Given the description of an element on the screen output the (x, y) to click on. 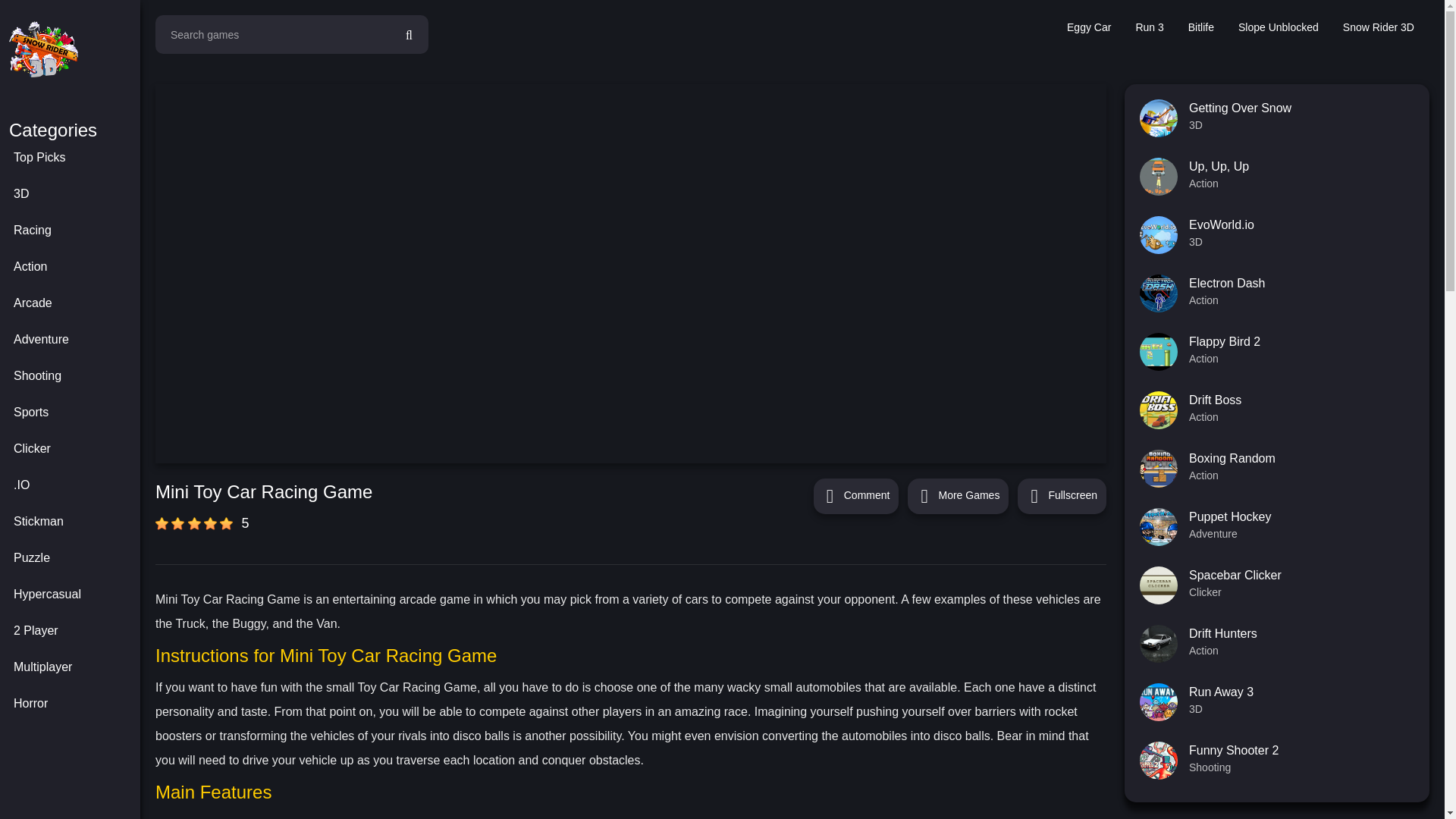
Top Picks (73, 157)
regular (194, 523)
Run 3 (1148, 27)
Hypercasual (73, 594)
Clicker (73, 448)
Adventure (73, 338)
2 Player (73, 630)
Eggy Car (1088, 27)
Snow Rider 3D (1378, 27)
Fullscreen (1061, 496)
Slope Unblocked (1277, 27)
Comment (856, 496)
Action (73, 266)
Racing (73, 230)
